Given the description of an element on the screen output the (x, y) to click on. 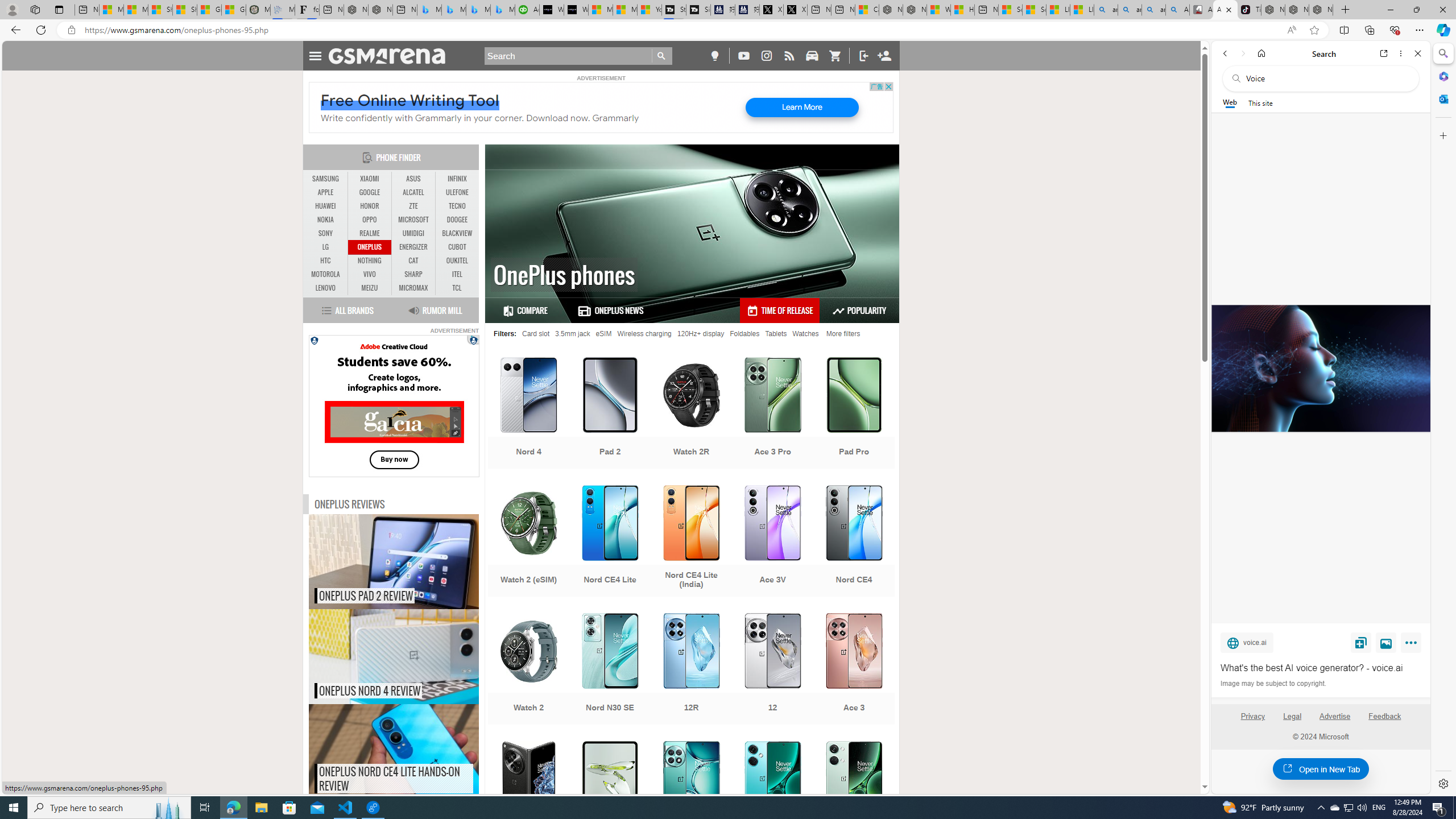
TikTok (1248, 9)
Nordace - Siena Pro 15 Essential Set (1321, 9)
Watch 2 (eSIM) (528, 542)
Card slot (536, 333)
ONEPLUS (369, 246)
ENERGIZER (413, 246)
XIAOMI (369, 178)
AutomationID: button (313, 340)
